Given the description of an element on the screen output the (x, y) to click on. 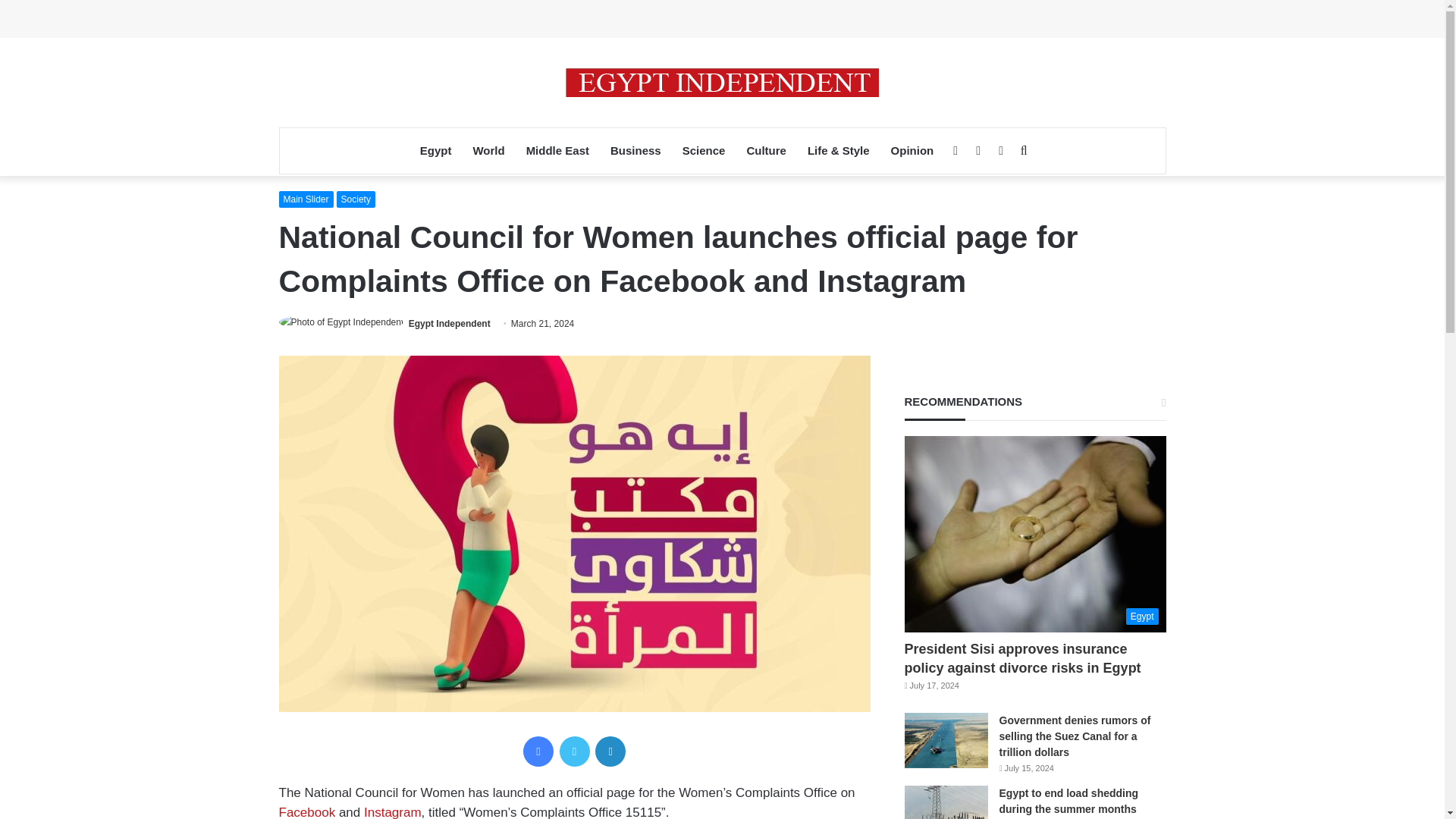
LinkedIn (610, 751)
Egypt Independent (449, 323)
Egypt (436, 150)
Main Slider (306, 199)
Facebook (537, 751)
LinkedIn (610, 751)
Business (635, 150)
Culture (765, 150)
Facebook (307, 812)
Egypt Independent (722, 82)
Society (355, 199)
World (488, 150)
Twitter (574, 751)
Opinion (912, 150)
Twitter (574, 751)
